Given the description of an element on the screen output the (x, y) to click on. 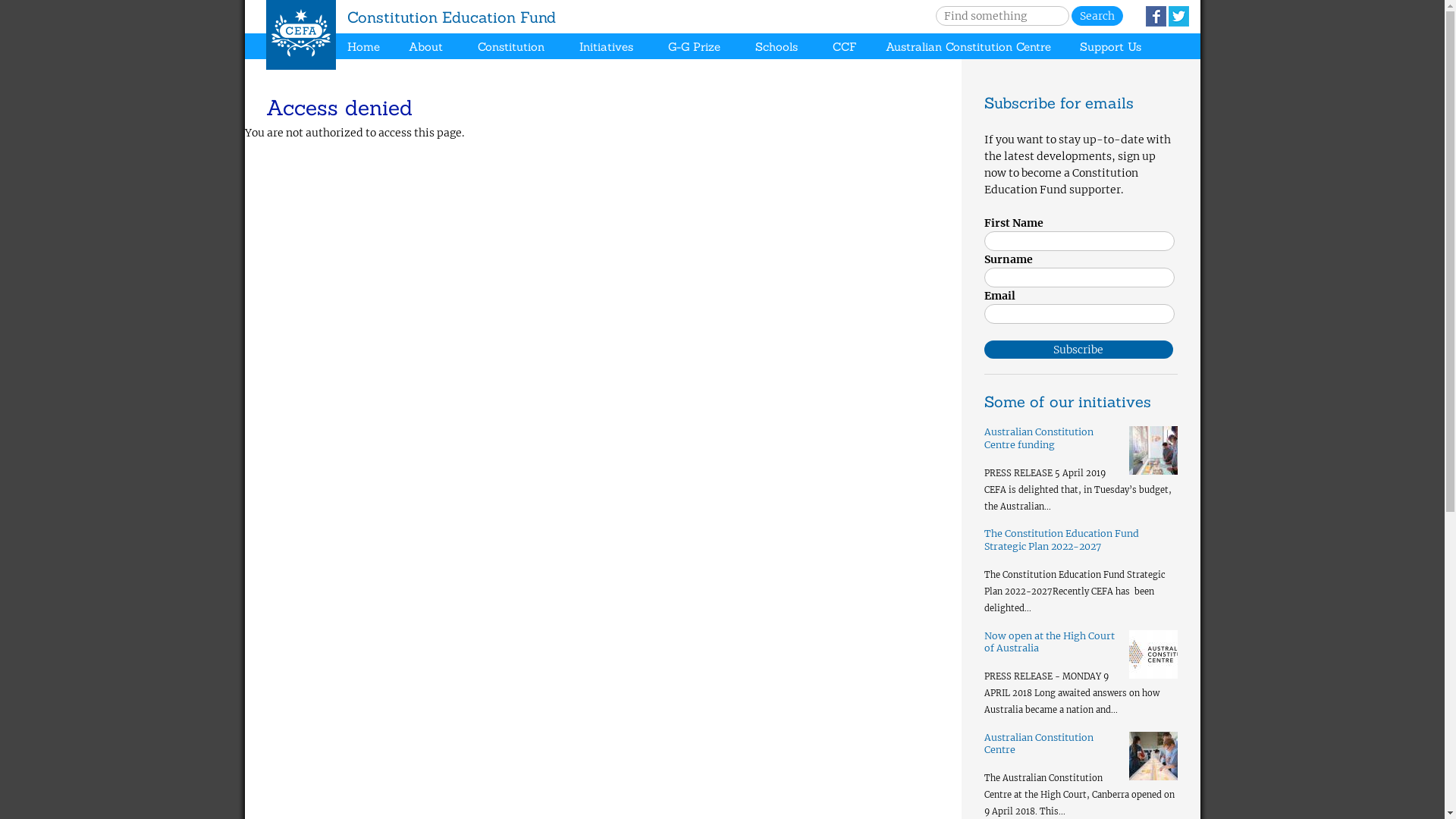
Initiatives Element type: text (606, 46)
Search Element type: text (1096, 15)
Now open at the High Court of Australia Element type: text (1049, 641)
Australian Constitution Centre Element type: text (968, 46)
About Element type: text (425, 46)
Home Element type: text (363, 46)
Australian Constitution Centre funding Element type: text (1038, 437)
Subscribe Element type: text (1078, 349)
Home Element type: hover (300, 34)
CCF Element type: text (844, 46)
Jump to navigation Element type: text (722, 2)
G-G Prize Element type: text (693, 46)
Facebook Element type: text (1155, 16)
Twitter Element type: text (1177, 16)
Support Us Element type: text (1110, 46)
Australian Constitution Centre Element type: text (1038, 743)
Schools Element type: text (776, 46)
Enter the terms you wish to search for. Element type: hover (1002, 15)
Constitution Element type: text (510, 46)
The Constitution Education Fund Strategic Plan 2022-2027 Element type: text (1061, 539)
